Given the description of an element on the screen output the (x, y) to click on. 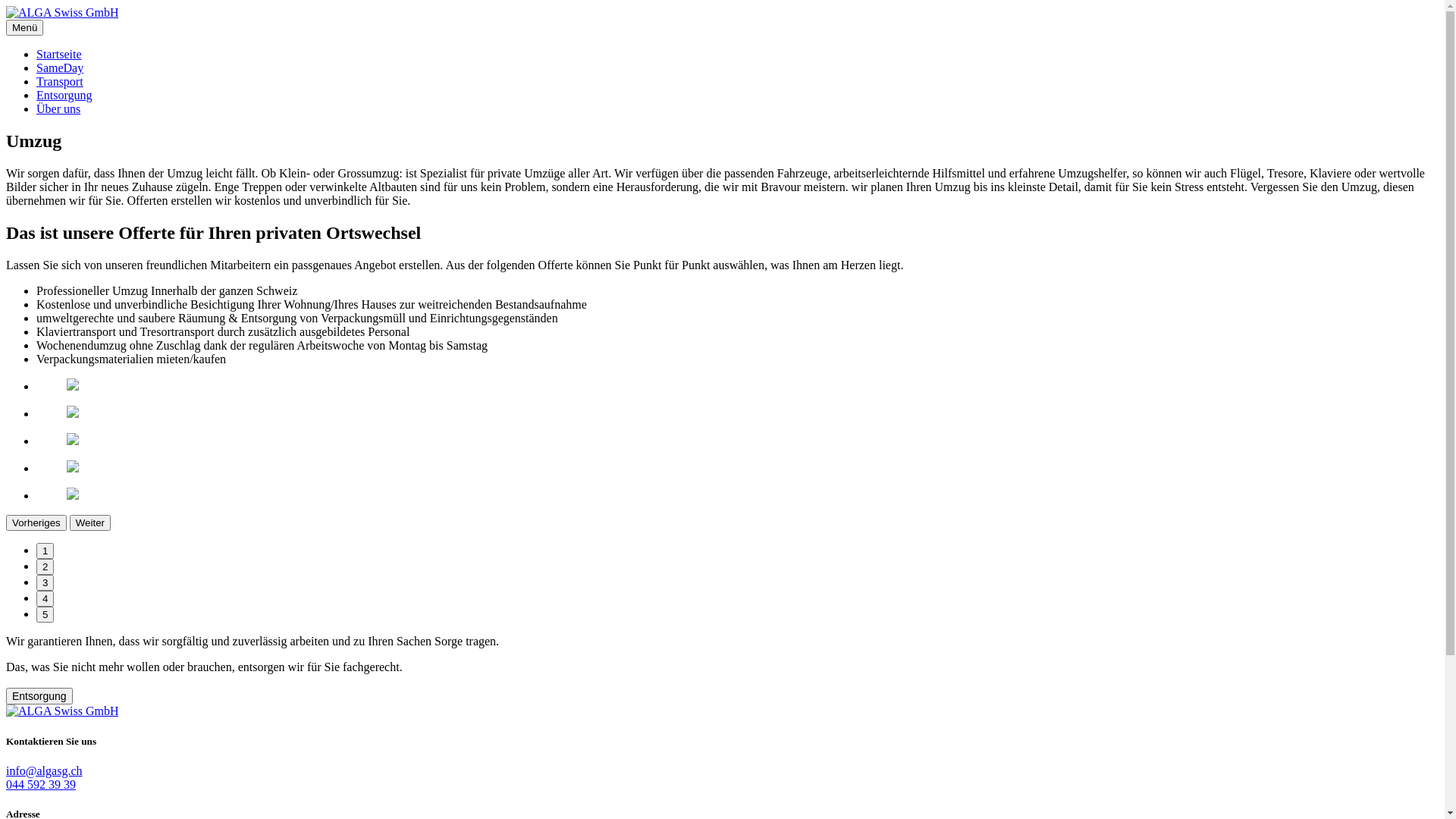
Vorheriges Element type: text (36, 522)
Entsorgung Element type: text (63, 94)
Weiter Element type: text (89, 522)
Transport Element type: text (59, 81)
info@algasg.ch Element type: text (43, 770)
2 Element type: text (44, 566)
044 592 39 39 Element type: text (40, 784)
4 Element type: text (44, 598)
Entsorgung Element type: text (39, 695)
Startseite Element type: text (58, 53)
3 Element type: text (44, 582)
SameDay Element type: text (59, 67)
5 Element type: text (44, 614)
1 Element type: text (44, 550)
